Given the description of an element on the screen output the (x, y) to click on. 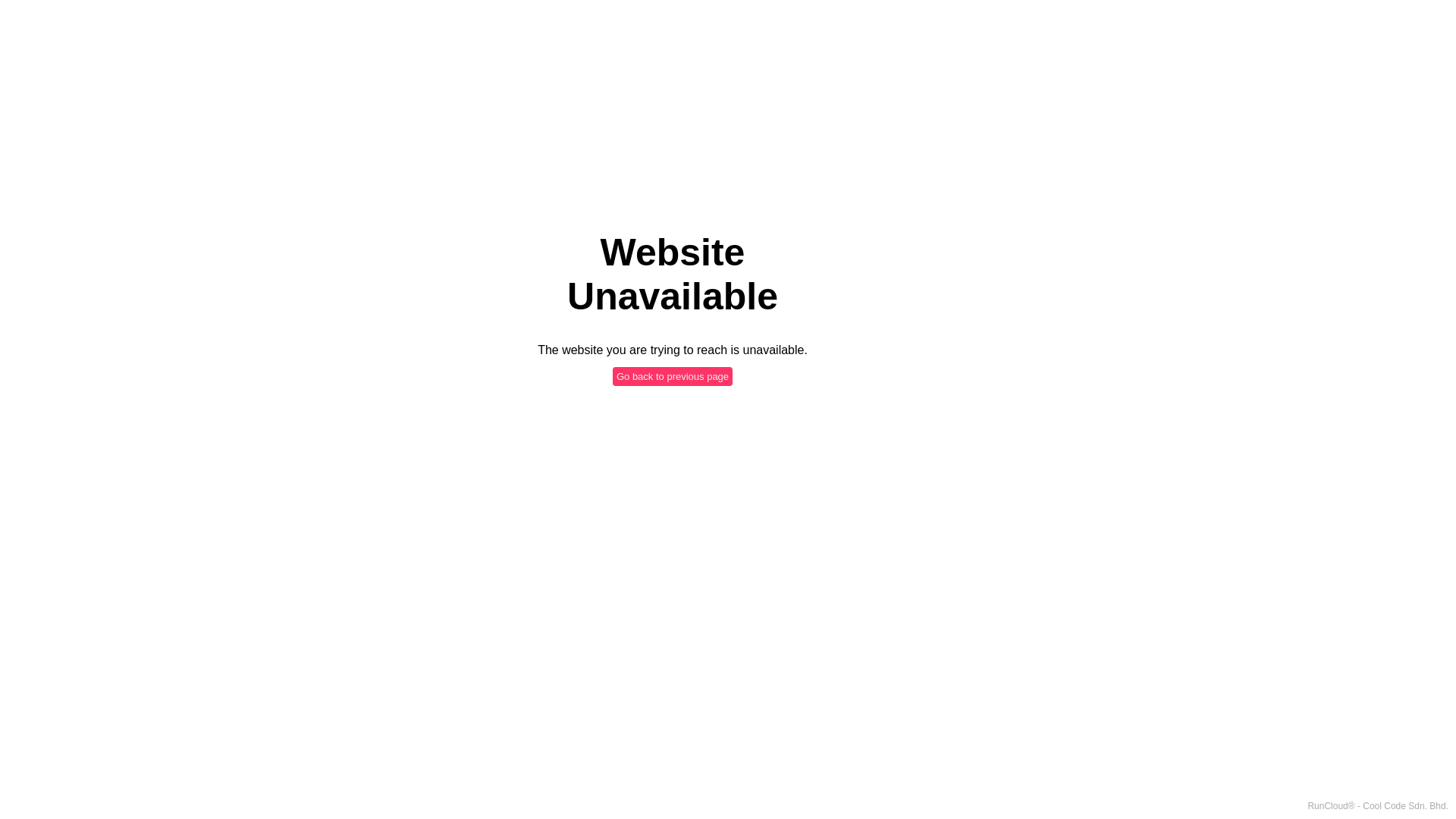
Go back to previous page Element type: text (672, 376)
